Given the description of an element on the screen output the (x, y) to click on. 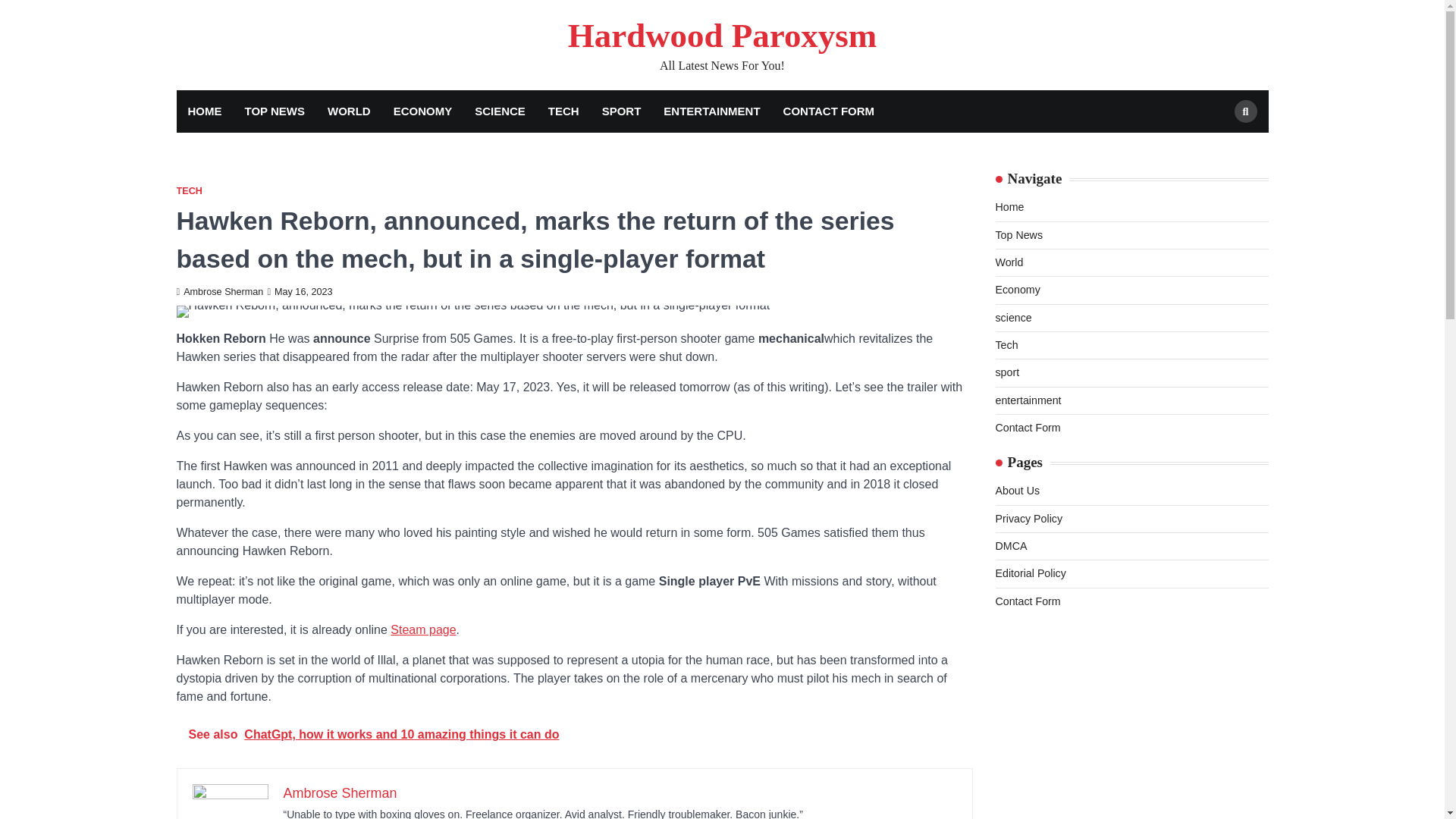
Home (1008, 206)
entertainment (1027, 399)
TECH (564, 111)
World (1008, 262)
Hardwood Paroxysm (722, 35)
HOME (204, 111)
TOP NEWS (273, 111)
Editorial Policy (1029, 573)
Privacy Policy (1028, 518)
ENTERTAINMENT (711, 111)
DMCA (1010, 545)
Ambrose Sherman (219, 291)
Tech (1005, 345)
SCIENCE (500, 111)
